Given the description of an element on the screen output the (x, y) to click on. 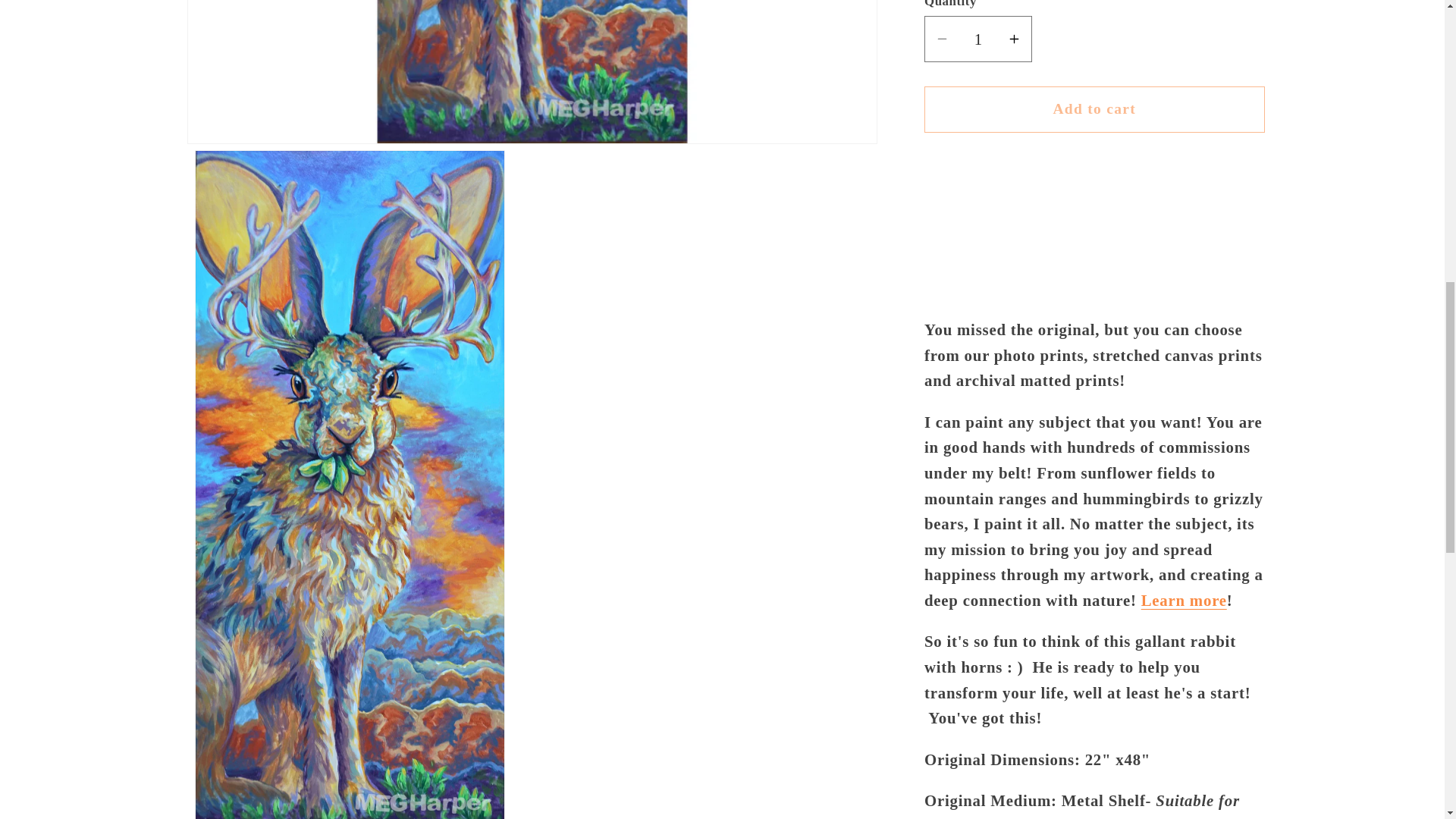
1 (978, 18)
